Given the description of an element on the screen output the (x, y) to click on. 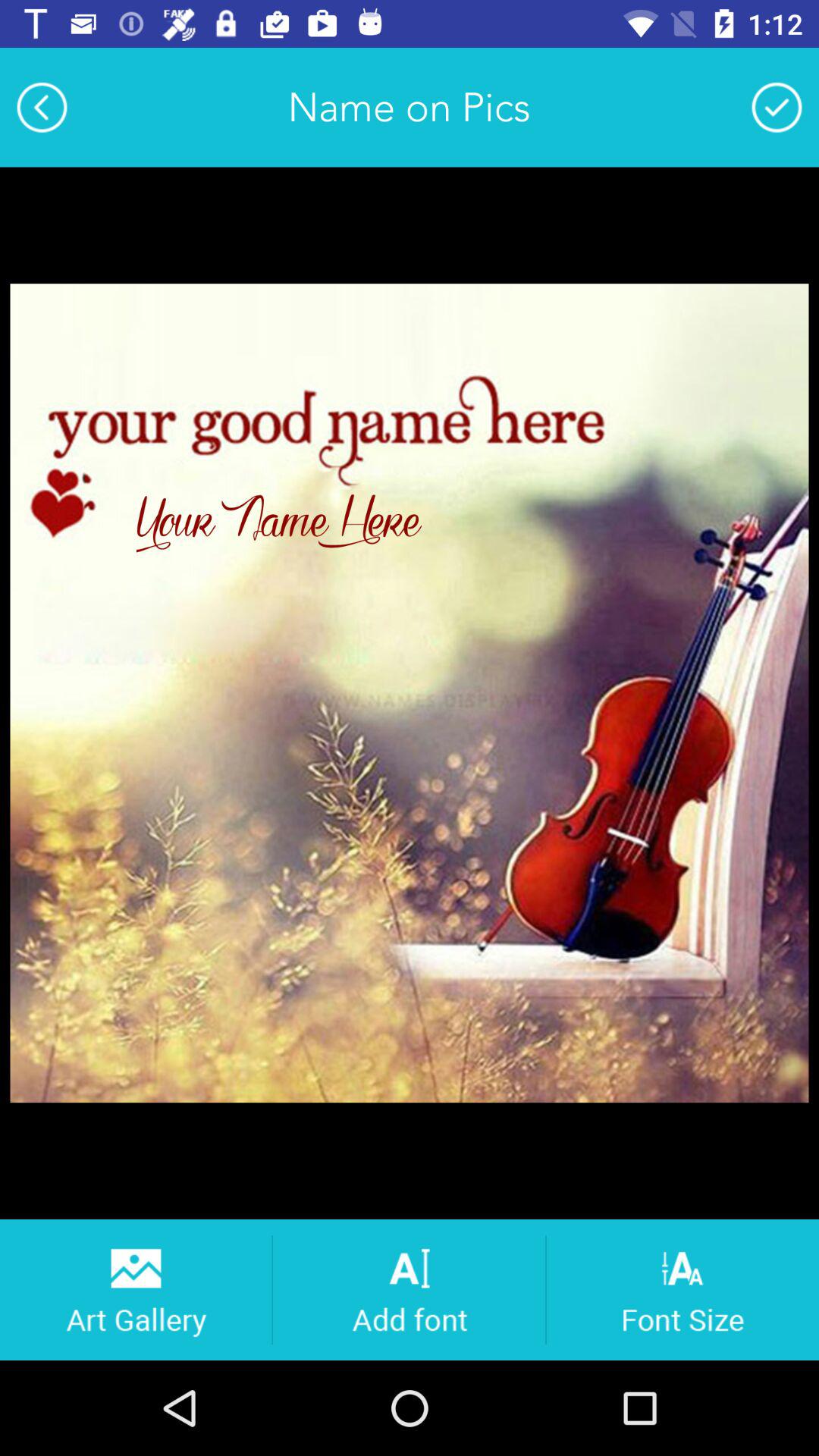
save image (776, 107)
